Given the description of an element on the screen output the (x, y) to click on. 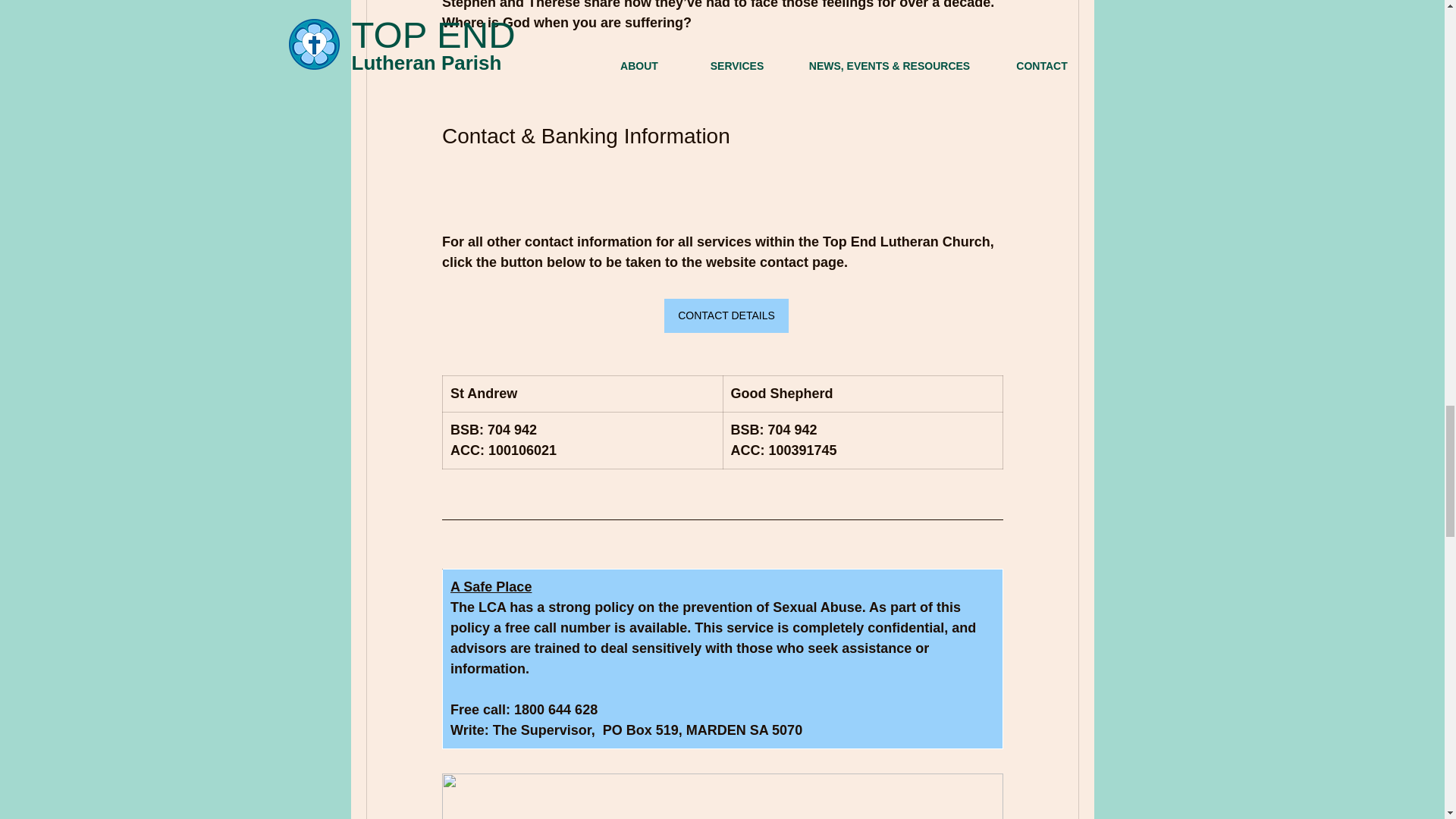
CONTACT DETAILS (726, 315)
